Given the description of an element on the screen output the (x, y) to click on. 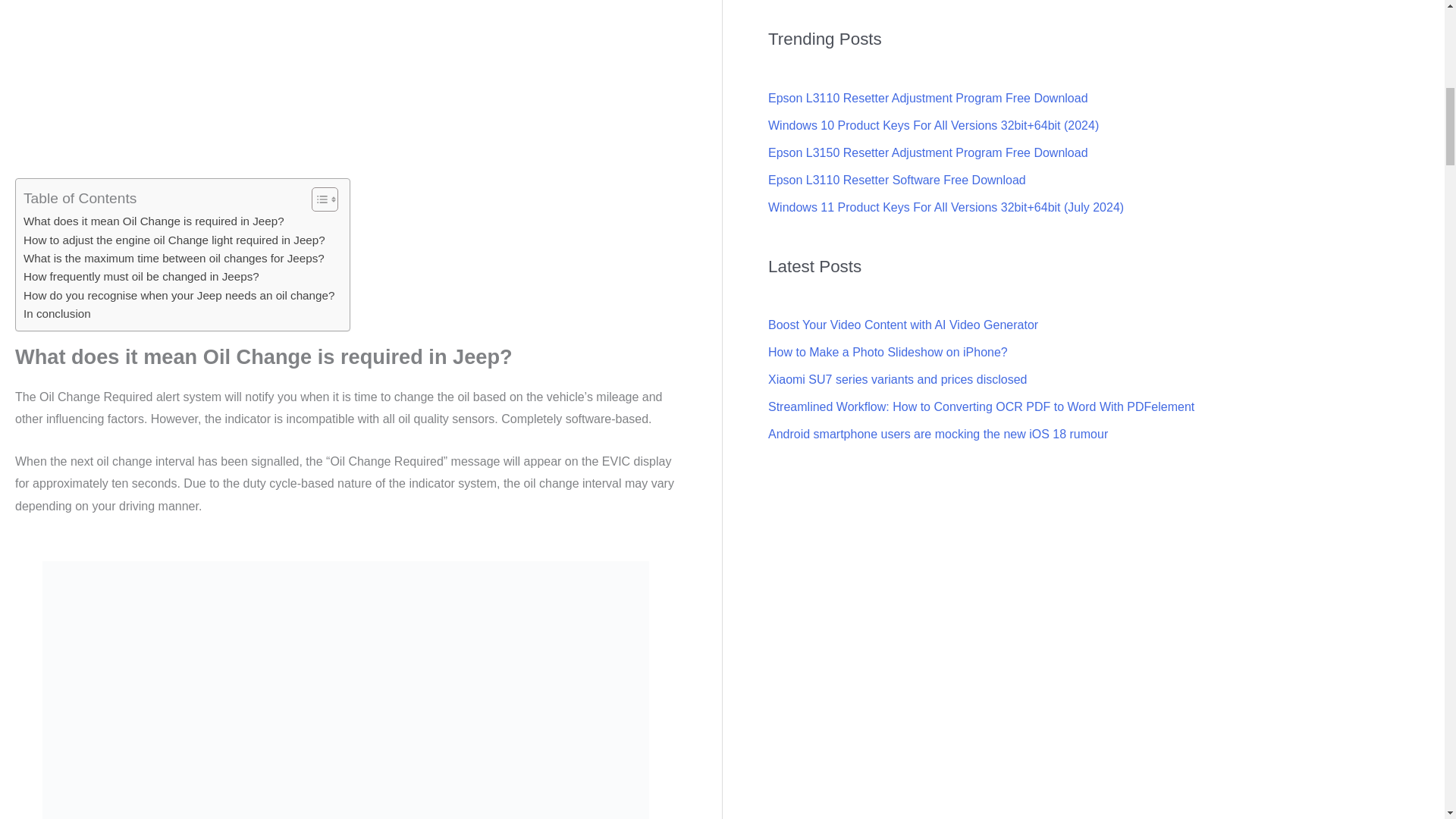
What does it mean Oil Change is required in Jeep? (153, 221)
How to adjust the engine oil Change light required in Jeep? (173, 239)
Advertisement (344, 97)
How do you recognise when your Jeep needs an oil change? (178, 295)
In conclusion (56, 313)
How frequently must oil be changed in Jeeps? (141, 276)
What is the maximum time between oil changes for Jeeps? (173, 258)
